Given the description of an element on the screen output the (x, y) to click on. 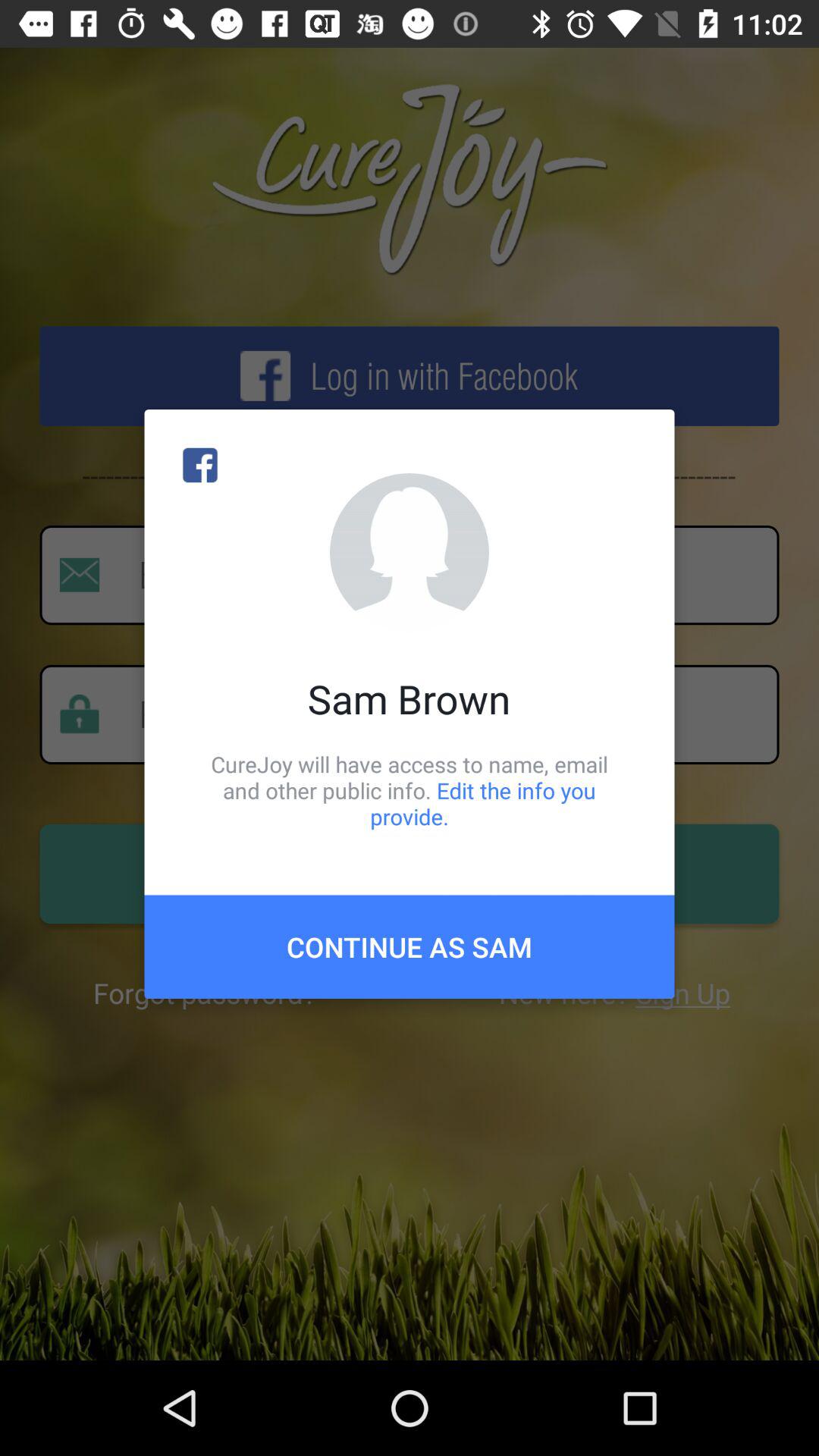
choose curejoy will have icon (409, 790)
